Given the description of an element on the screen output the (x, y) to click on. 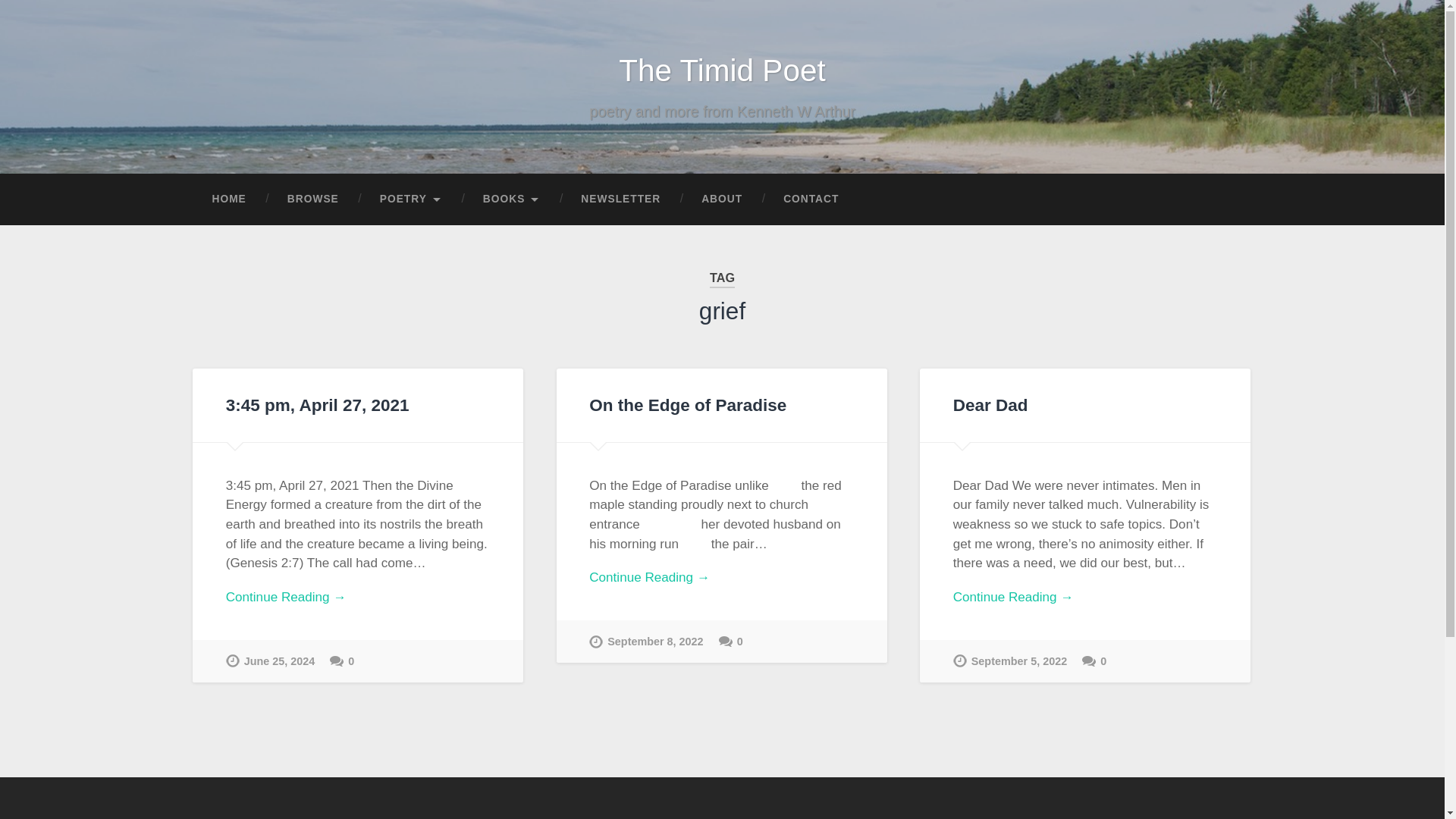
CONTACT (810, 199)
BROWSE (312, 199)
NEWSLETTER (620, 199)
BOOKS (511, 199)
The Timid Poet (721, 70)
POETRY (411, 199)
On the Edge of Paradise (687, 404)
ABOUT (721, 199)
HOME (228, 199)
June 25, 2024 (270, 660)
3:45 pm, April 27, 2021 (317, 404)
